Given the description of an element on the screen output the (x, y) to click on. 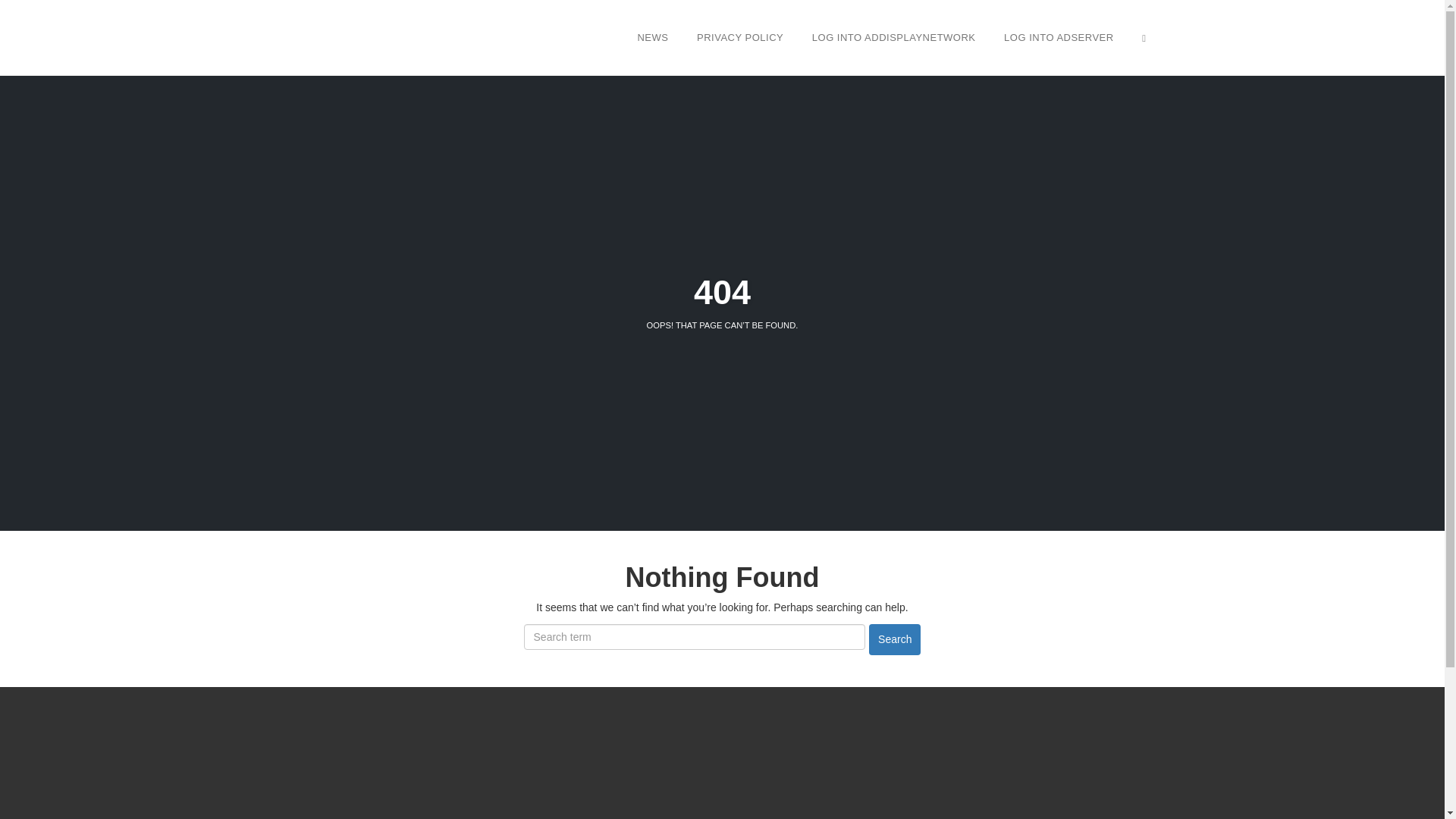
PRIVACY POLICY (740, 37)
AdDisplayNetwork (716, 780)
Search (894, 639)
NEWS (652, 37)
OPEN SEARCH FORM (1144, 37)
LOG INTO ADSERVER (1058, 37)
LOG INTO ADDISPLAYNETWORK (893, 37)
Search (894, 639)
